Given the description of an element on the screen output the (x, y) to click on. 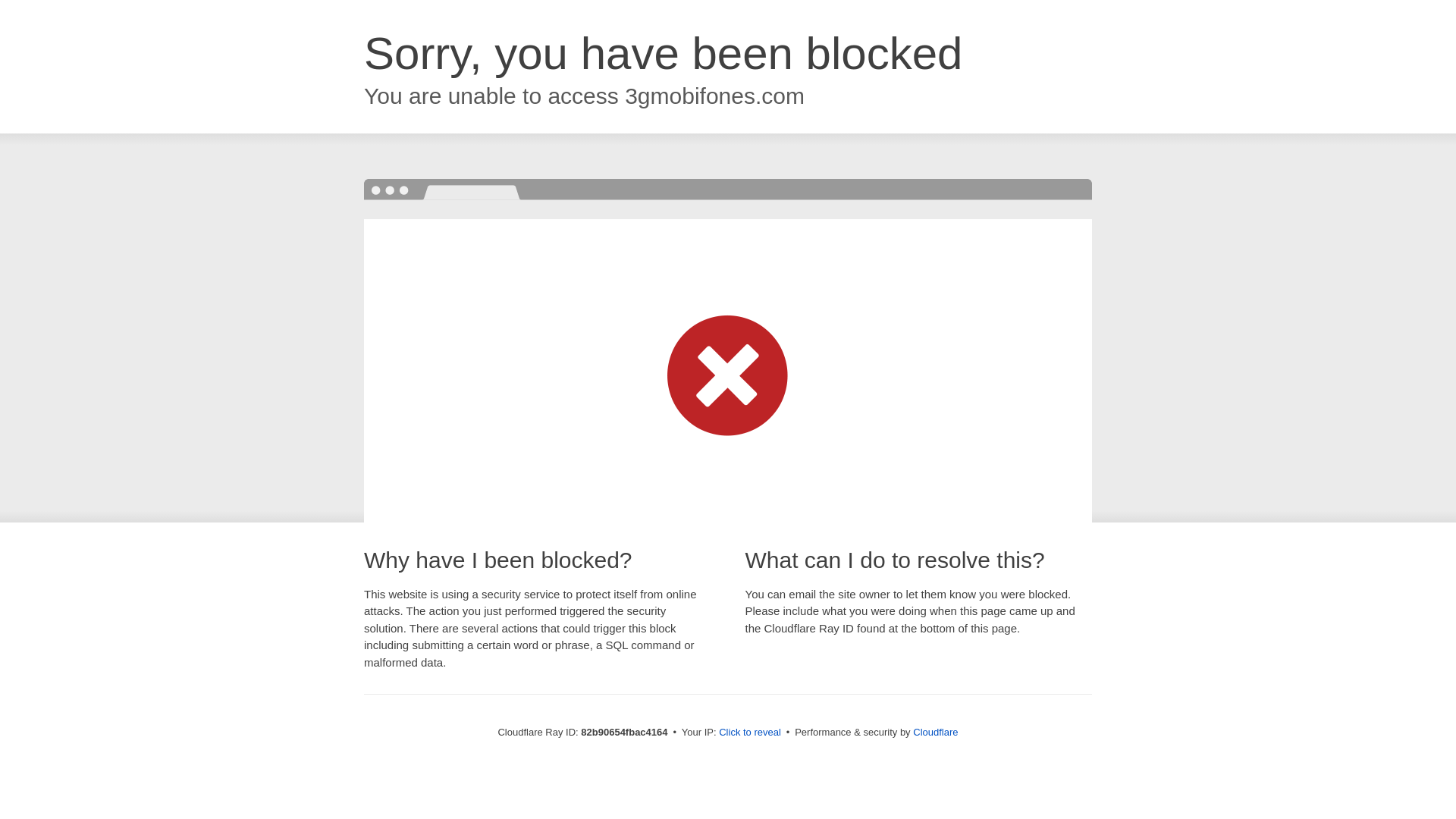
Cloudflare Element type: text (935, 731)
Click to reveal Element type: text (749, 732)
